Given the description of an element on the screen output the (x, y) to click on. 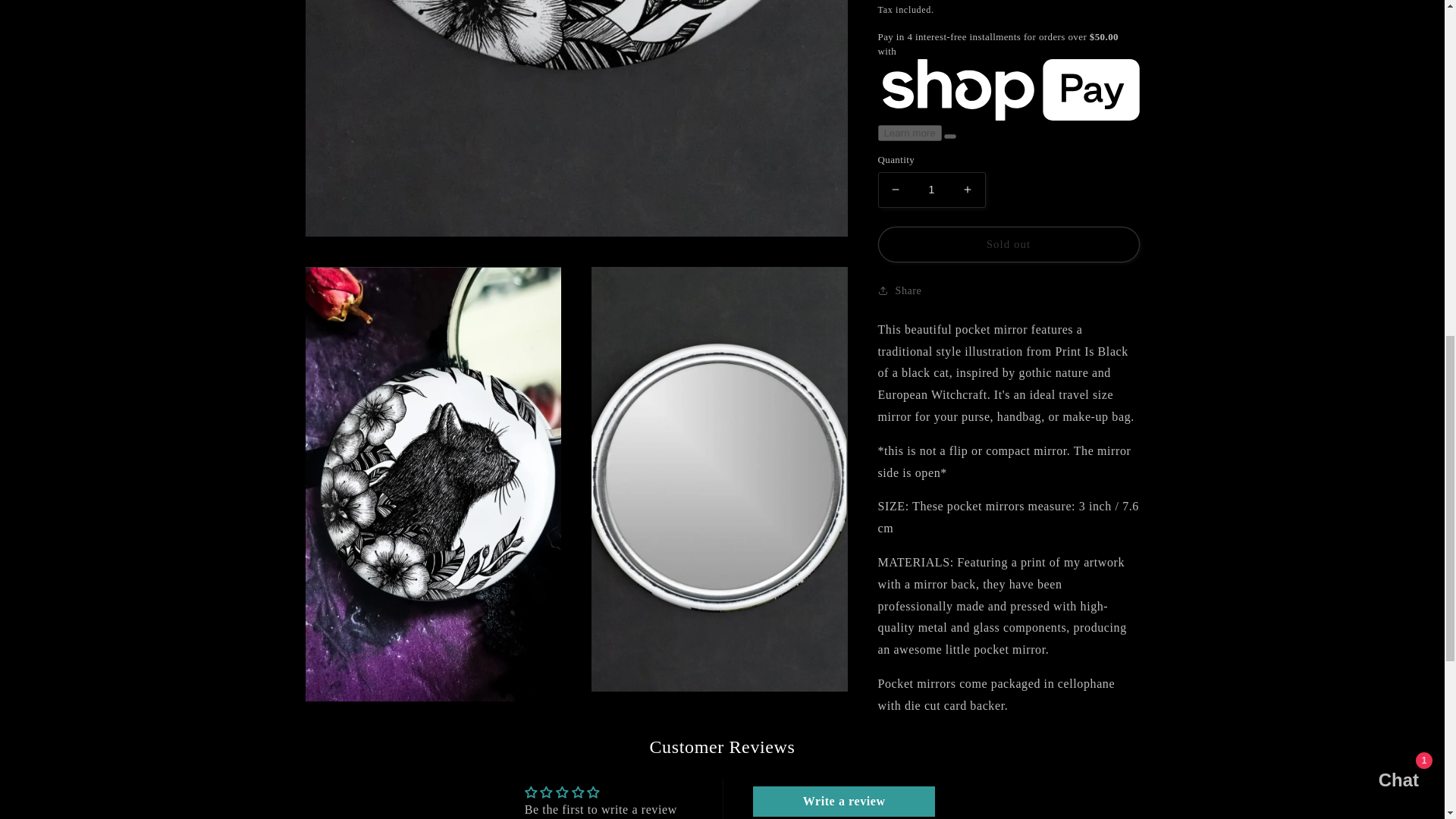
Write a review (843, 801)
